Given the description of an element on the screen output the (x, y) to click on. 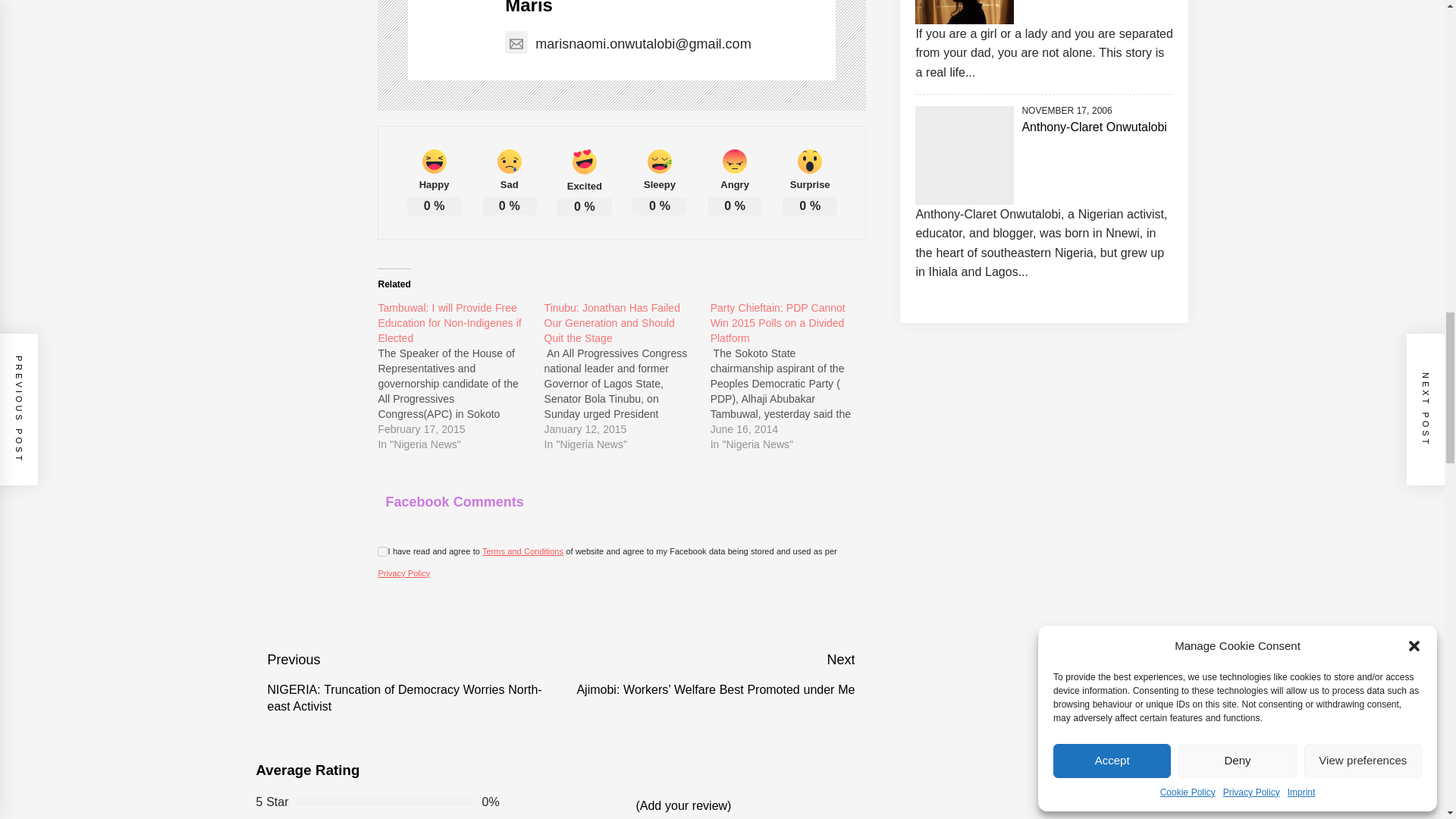
1 (382, 551)
